Given the description of an element on the screen output the (x, y) to click on. 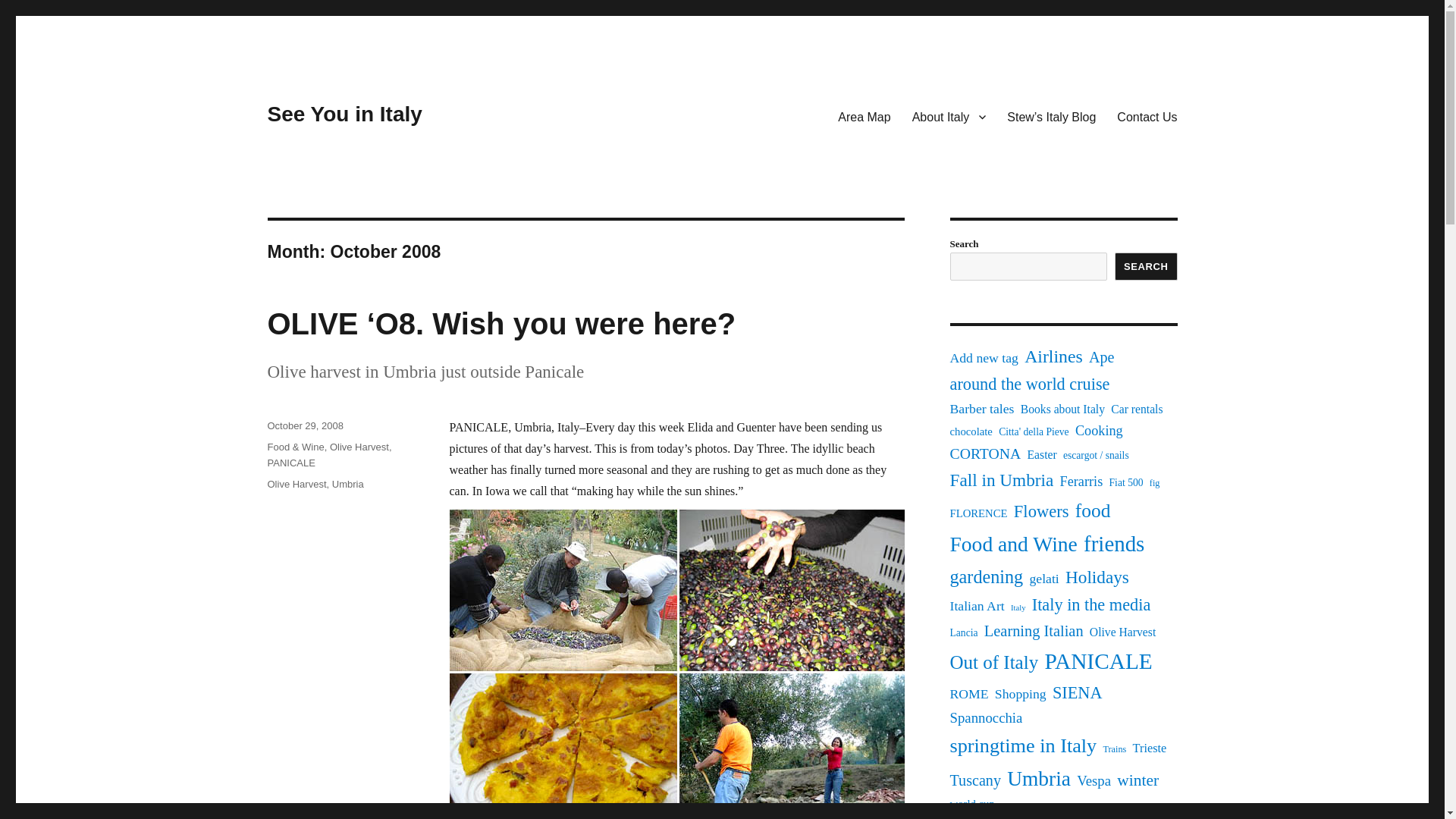
Area Map (864, 116)
About Italy (949, 116)
See You in Italy (344, 114)
